Given the description of an element on the screen output the (x, y) to click on. 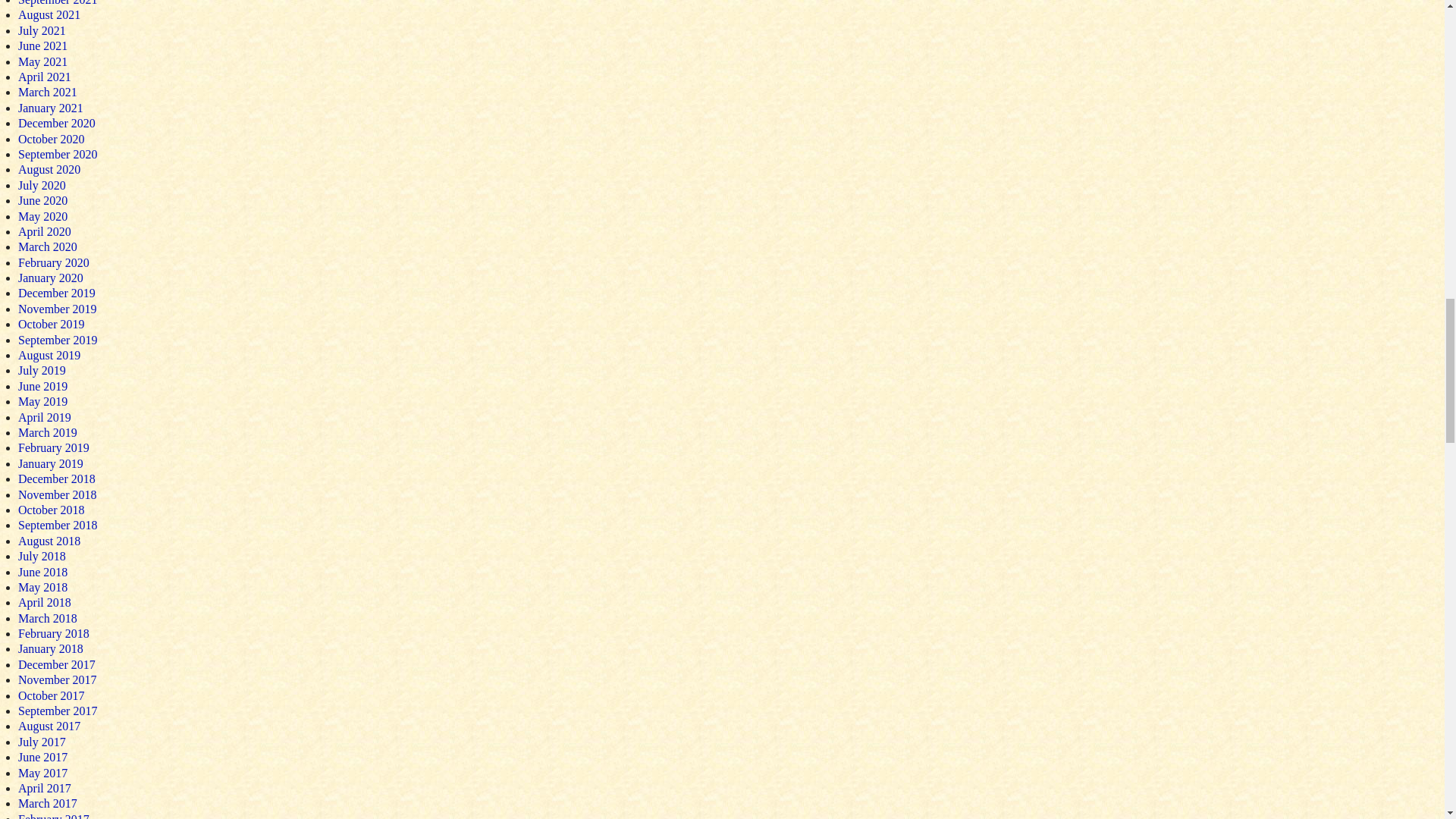
July 2021 (41, 30)
March 2021 (47, 91)
January 2021 (49, 107)
May 2021 (41, 61)
June 2021 (41, 45)
August 2021 (48, 14)
September 2021 (57, 2)
April 2021 (44, 76)
December 2020 (56, 123)
